Given the description of an element on the screen output the (x, y) to click on. 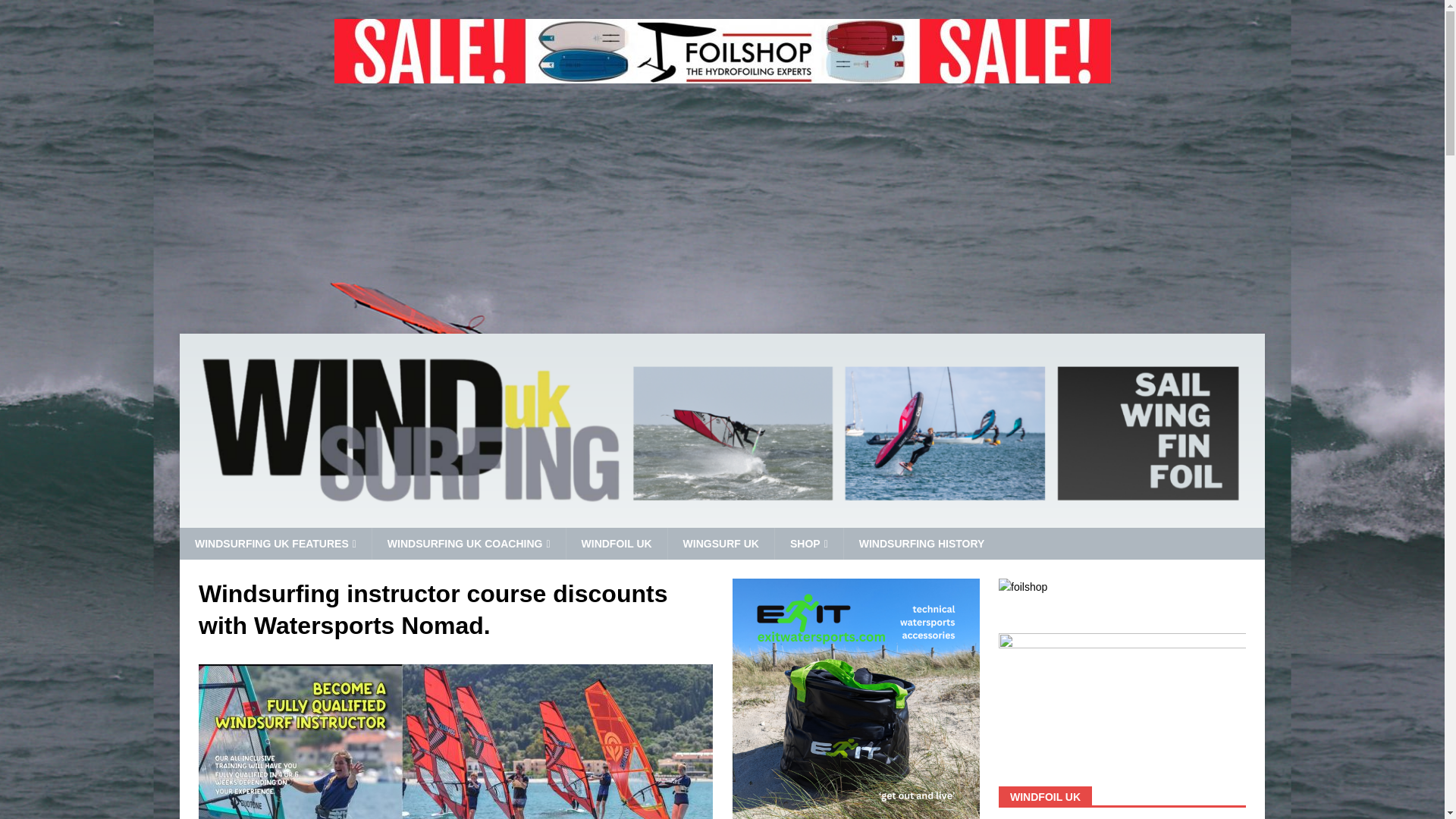
WINDSURFING UK FEATURES (275, 543)
Windsurfing UK (722, 518)
